Given the description of an element on the screen output the (x, y) to click on. 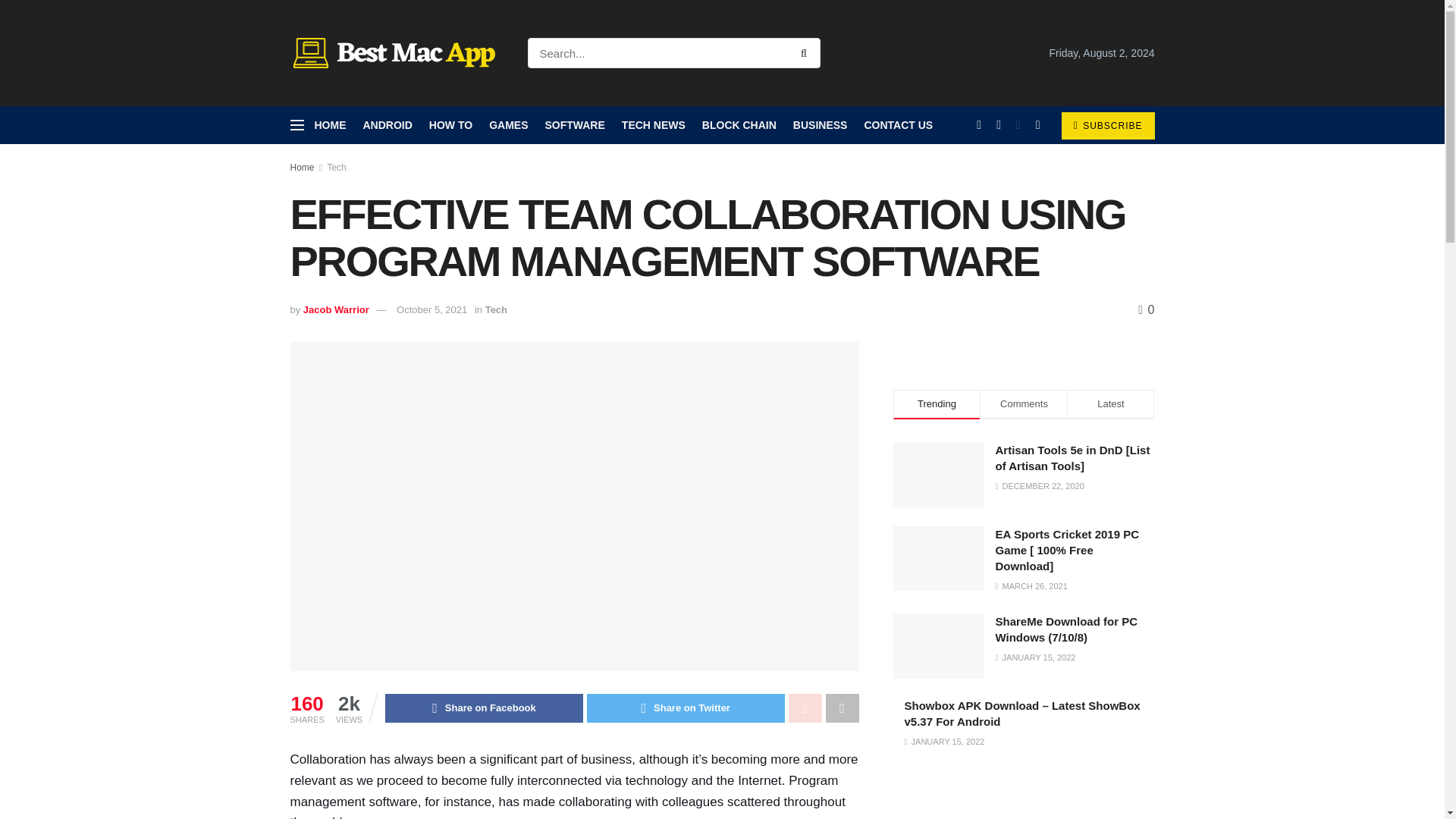
SUBSCRIBE (1107, 125)
CONTACT US (898, 125)
HOW TO (450, 125)
BLOCK CHAIN (738, 125)
GAMES (508, 125)
ANDROID (387, 125)
TECH NEWS (653, 125)
SOFTWARE (574, 125)
BUSINESS (820, 125)
